Given the description of an element on the screen output the (x, y) to click on. 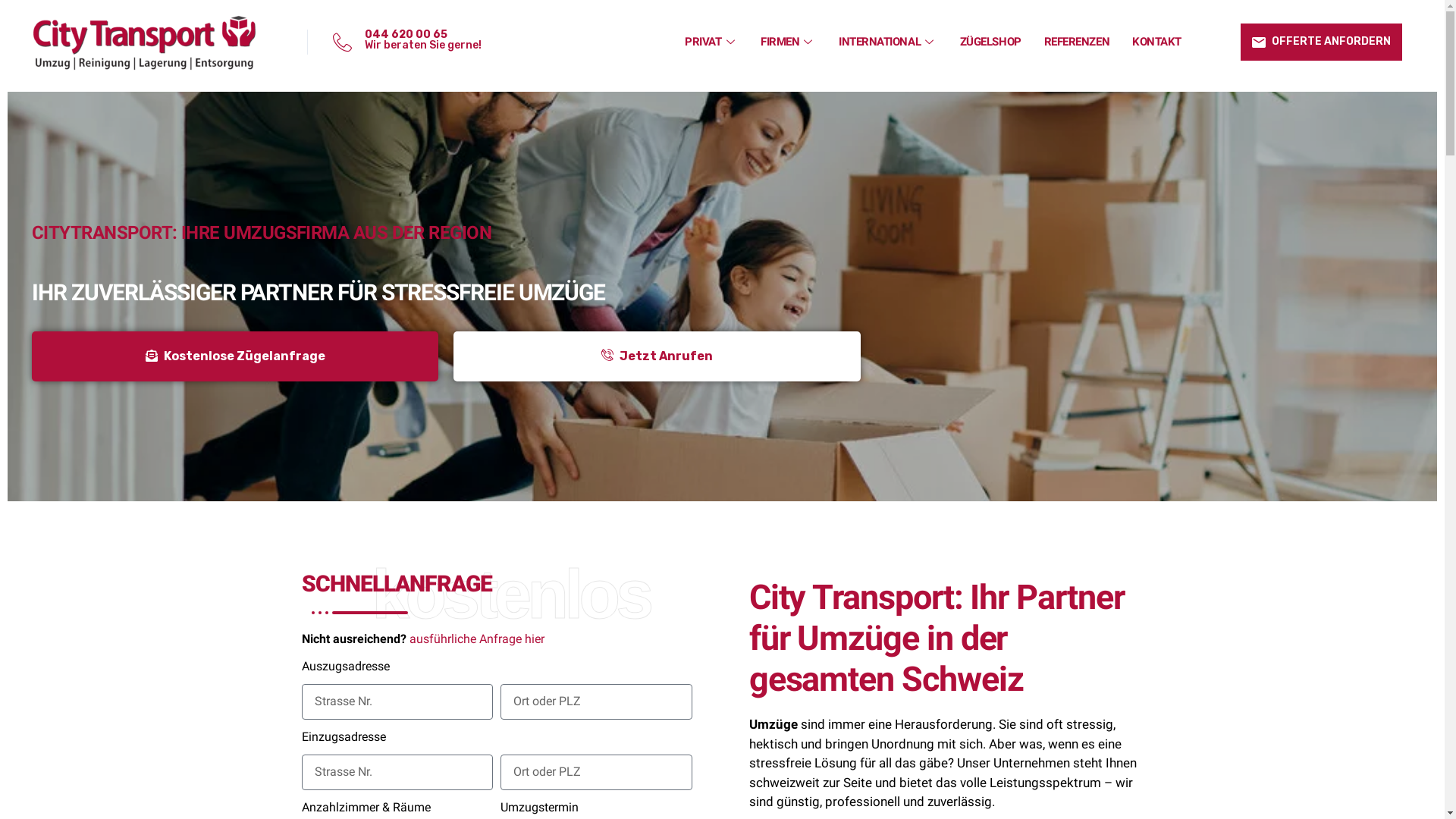
044 620 00 65
Wir beraten Sie gerne! Element type: text (415, 41)
INTERNATIONAL Element type: text (887, 41)
REFERENZEN Element type: text (1076, 41)
OFFERTE ANFORDERN Element type: text (1320, 41)
Jetzt Anrufen Element type: text (656, 356)
KONTAKT Element type: text (1156, 41)
FIRMEN Element type: text (788, 41)
PRIVAT Element type: text (711, 41)
